Given the description of an element on the screen output the (x, y) to click on. 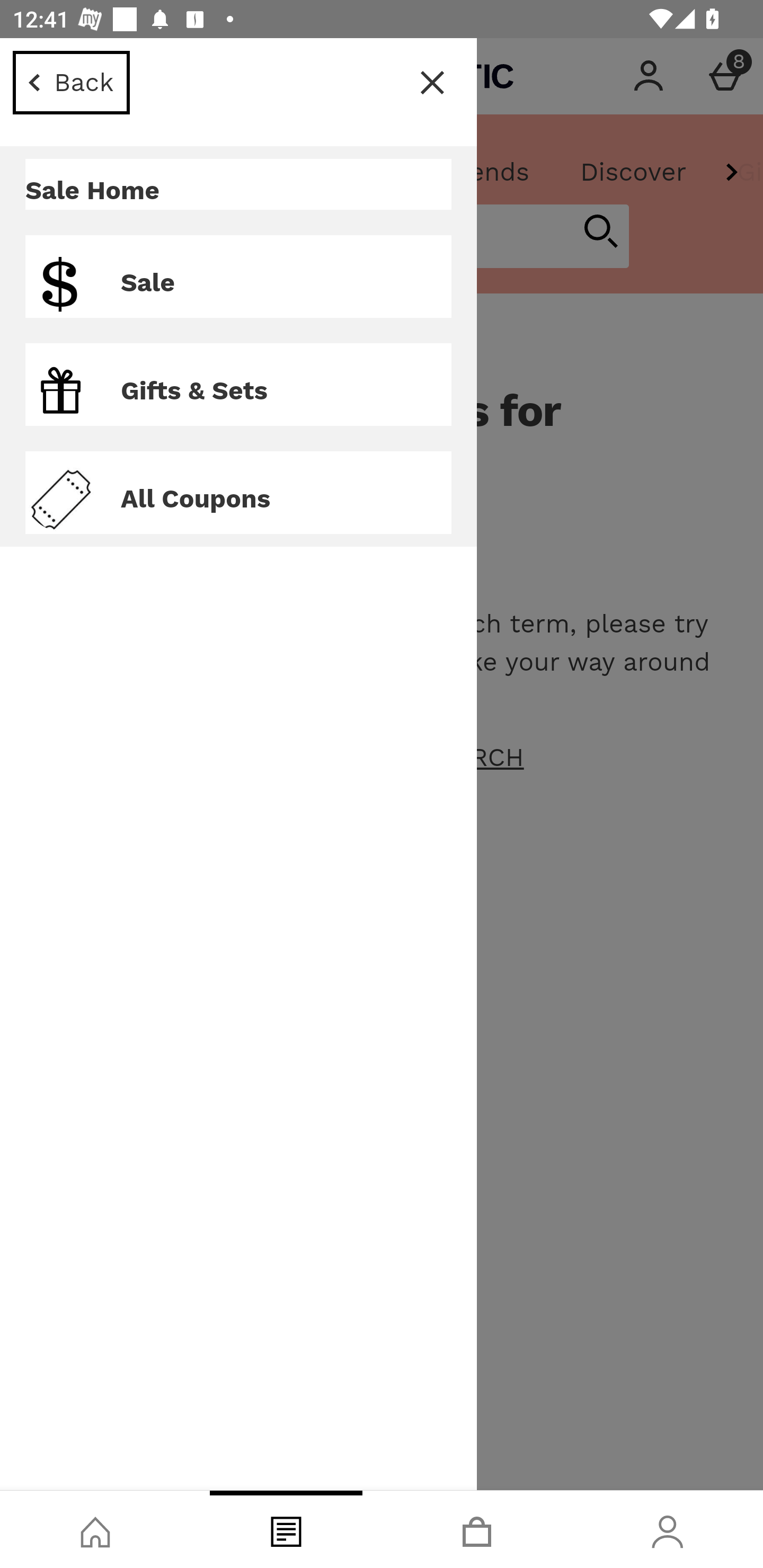
Shop, tab, 1 of 4 (95, 1529)
Blog, tab, 2 of 4 (285, 1529)
Basket, tab, 3 of 4 (476, 1529)
Account, tab, 4 of 4 (667, 1529)
